Given the description of an element on the screen output the (x, y) to click on. 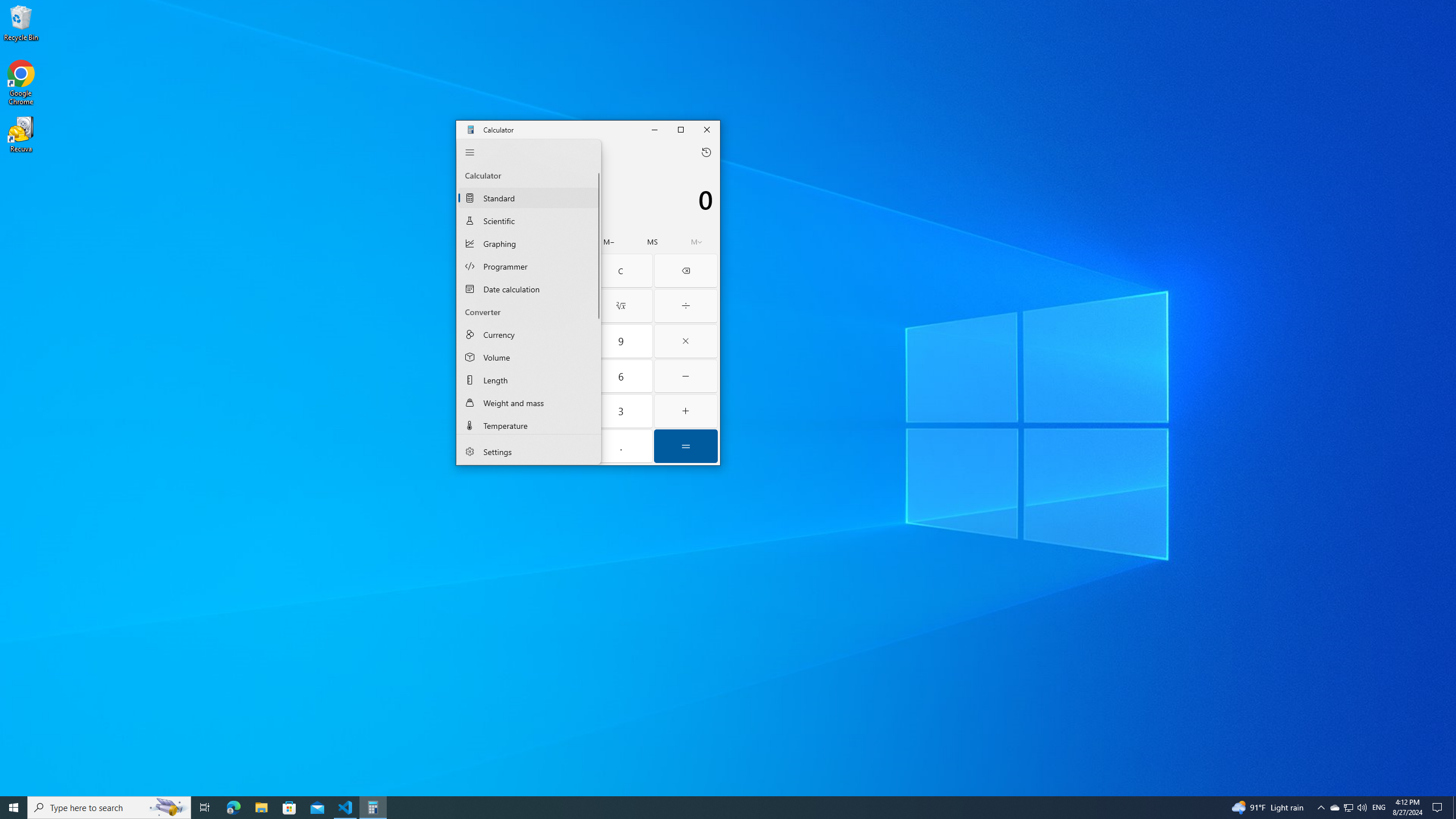
Minimize Calculator (655, 129)
Currency Converter (528, 334)
Plus (685, 410)
Two (556, 410)
Calculator - 1 running window (373, 807)
Date calculation Calculator (528, 288)
Backspace (685, 270)
Settings (528, 451)
